Given the description of an element on the screen output the (x, y) to click on. 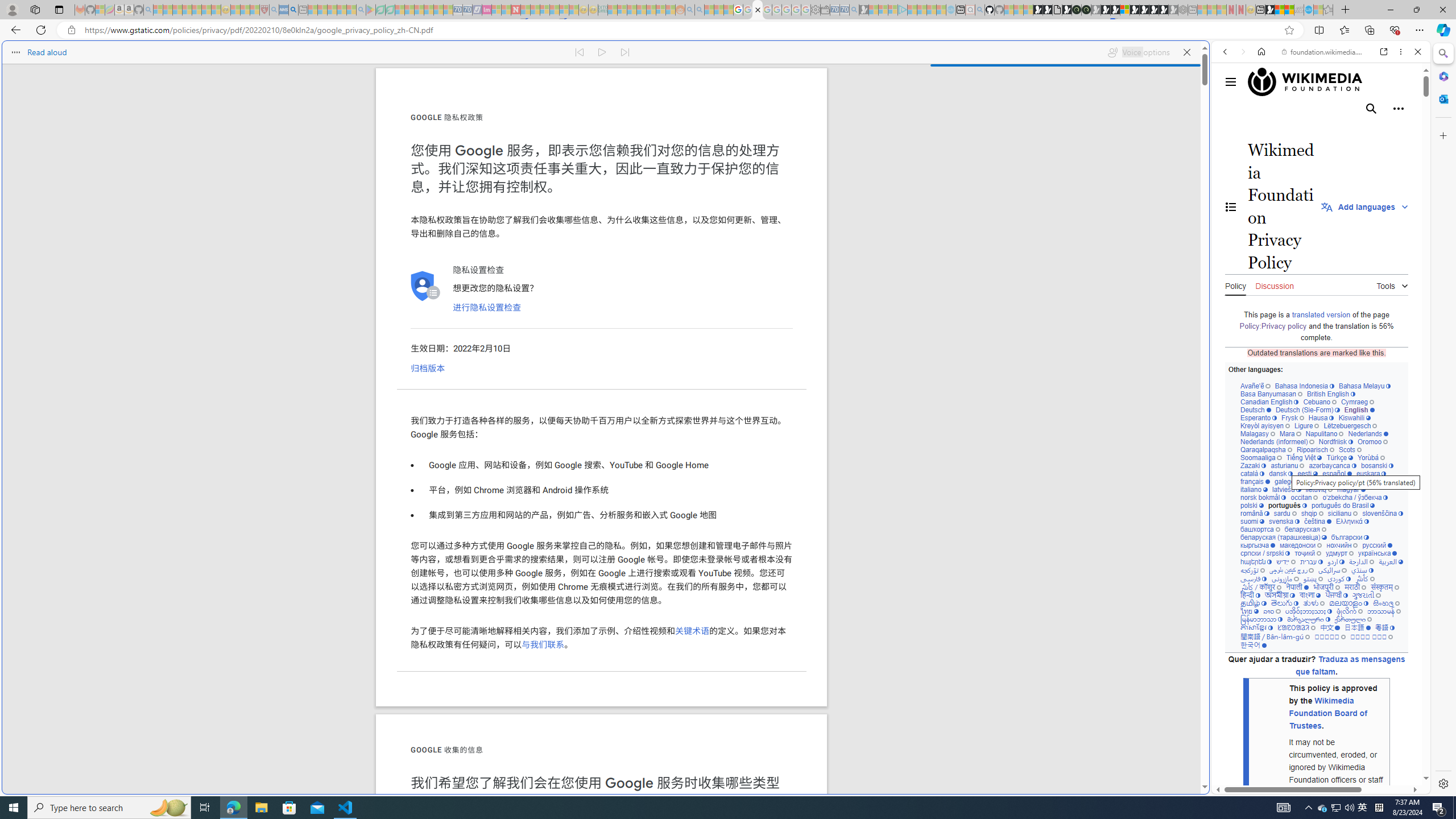
Close Customize pane (1442, 135)
shqip (1311, 513)
Global web icon (1232, 786)
Play Zoo Boom in your browser | Games from Microsoft Start (1047, 9)
Open link in new tab (1383, 51)
British English (1330, 393)
Close read aloud (1186, 52)
